Given the description of an element on the screen output the (x, y) to click on. 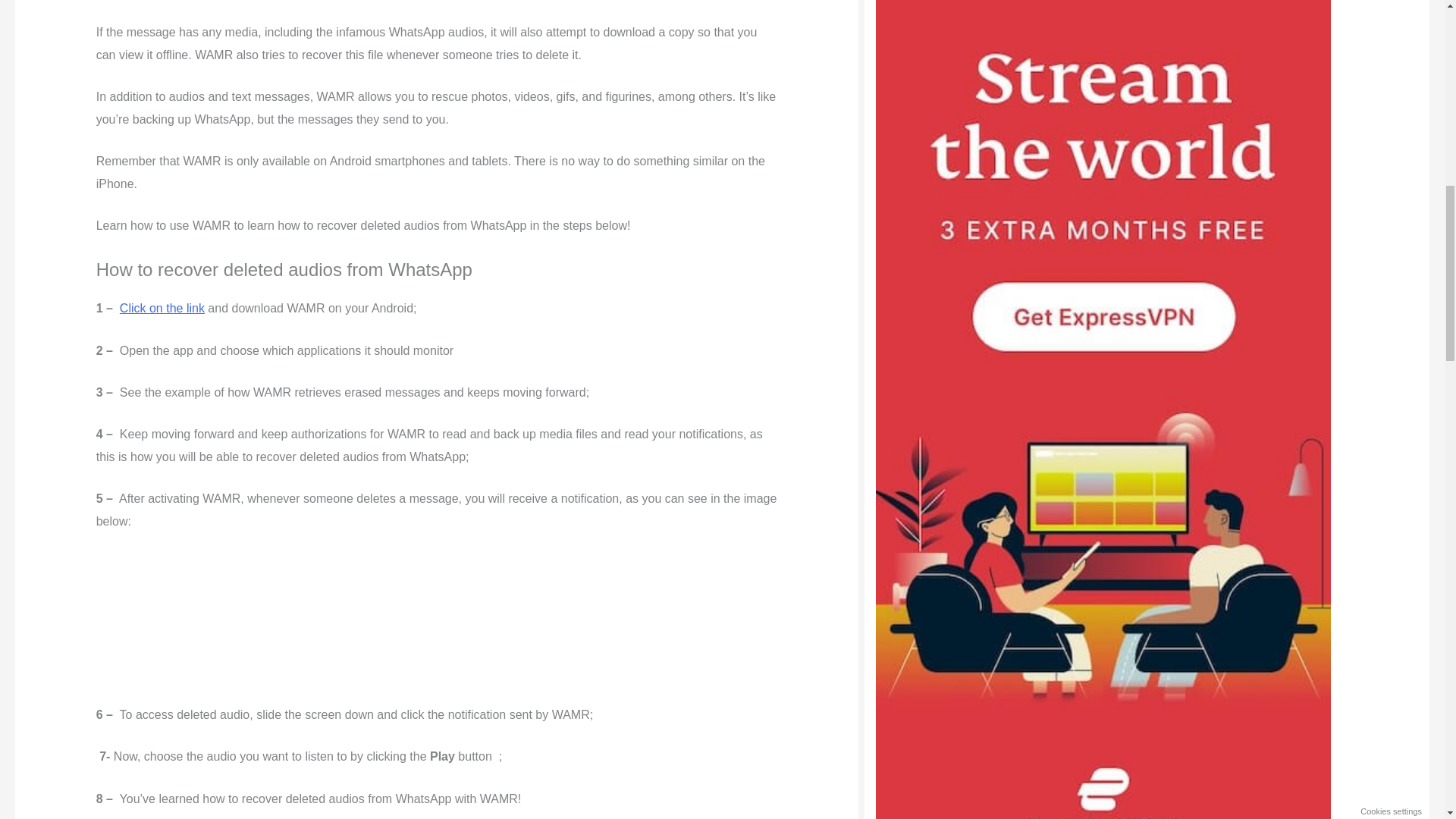
Advertisement (436, 627)
Click on the link (162, 308)
